Given the description of an element on the screen output the (x, y) to click on. 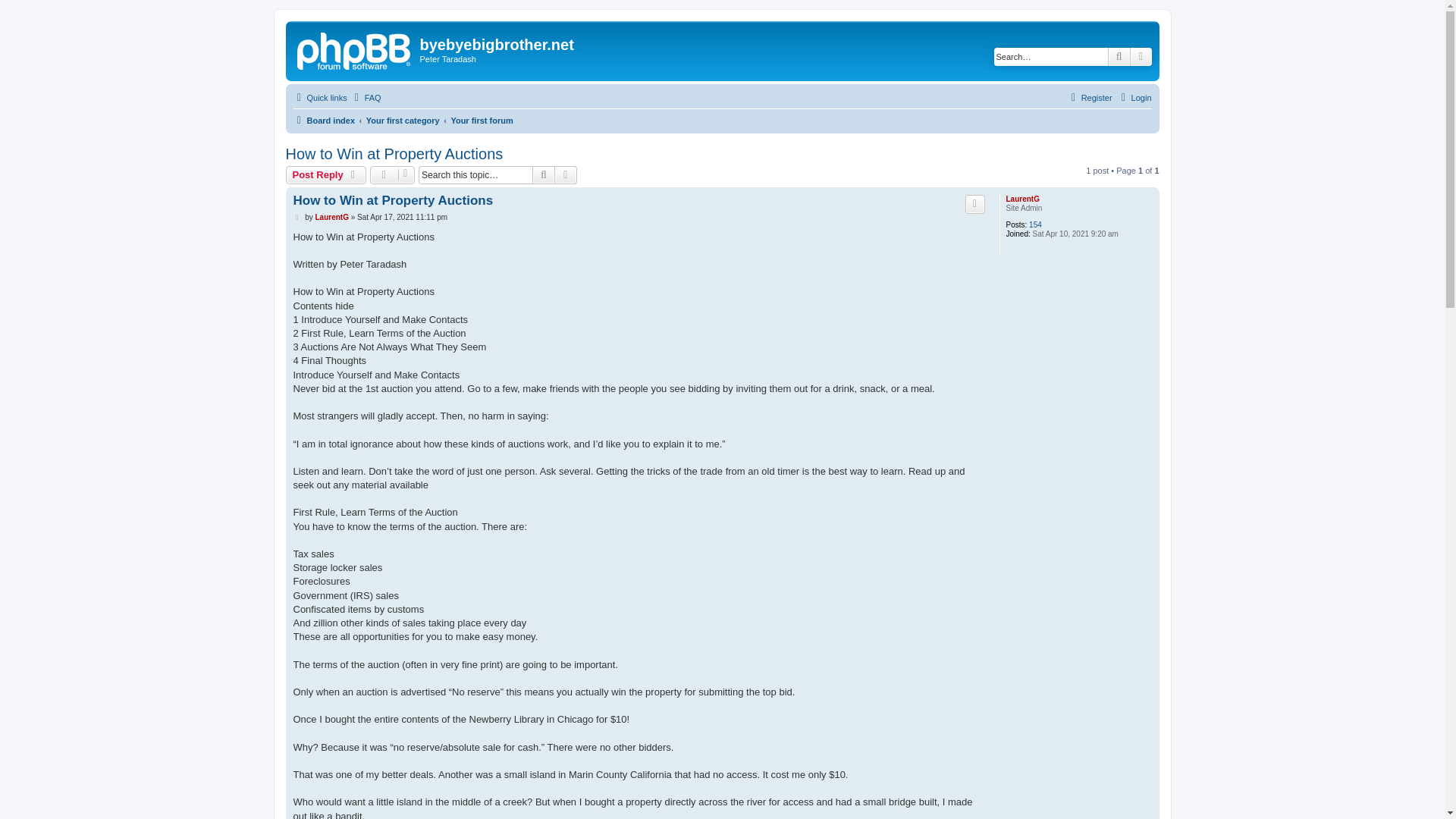
Login (1134, 97)
How to Win at Property Auctions (393, 153)
Post Reply (325, 175)
Your first category (402, 120)
Your first forum (480, 120)
Frequently Asked Questions (365, 97)
Search (543, 175)
Board index (323, 120)
LaurentG (330, 216)
Search (1119, 56)
Post (297, 216)
Search for keywords (1051, 56)
Search (543, 175)
Advanced search (1141, 56)
154 (1035, 225)
